Given the description of an element on the screen output the (x, y) to click on. 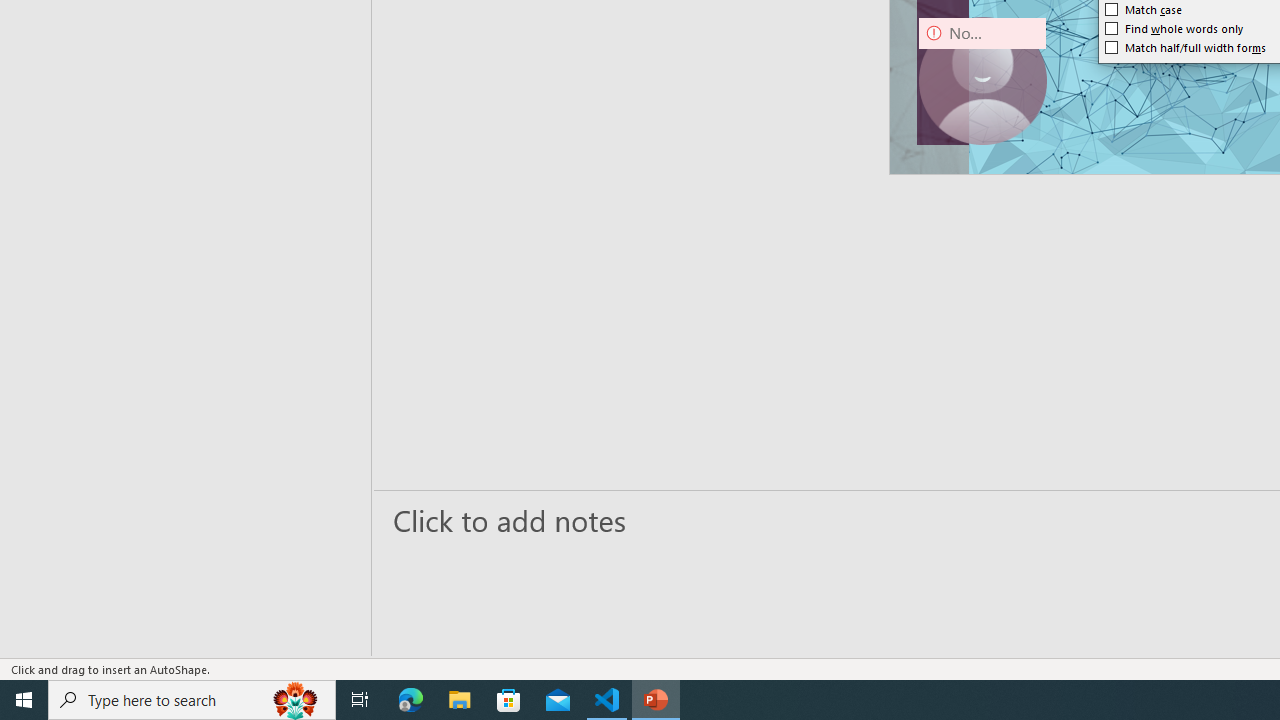
Find whole words only (1174, 28)
Microsoft Edge (411, 699)
File Explorer (460, 699)
Microsoft Store (509, 699)
Match half/full width forms (1186, 48)
Type here to search (191, 699)
PowerPoint - 1 running window (656, 699)
Match case (1144, 10)
Task View (359, 699)
Search highlights icon opens search home window (295, 699)
Camera 9, No camera detected. (982, 80)
Visual Studio Code - 1 running window (607, 699)
